Given the description of an element on the screen output the (x, y) to click on. 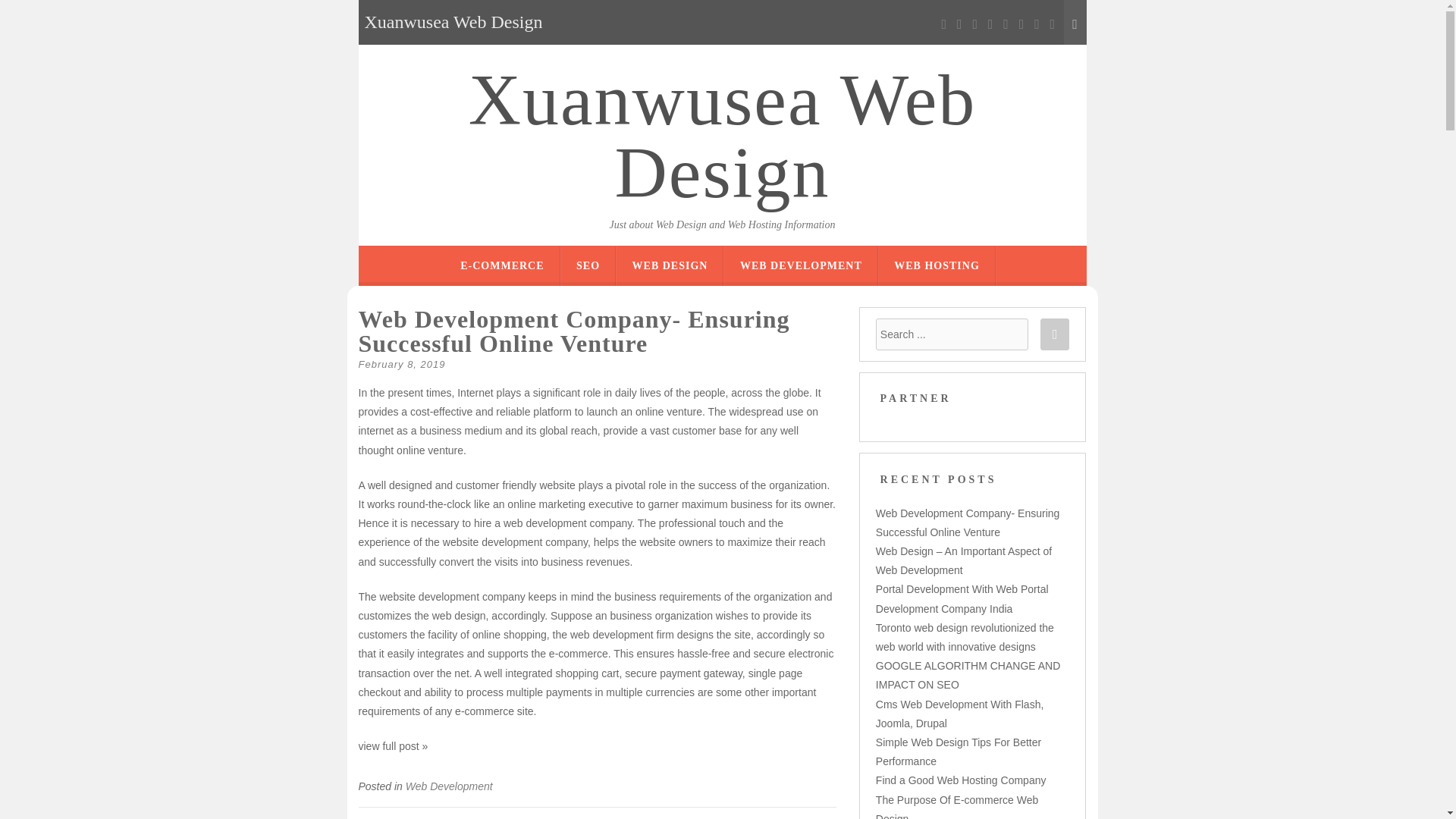
E-COMMERCE (501, 265)
Web Development Company- Ensuring Successful Online Venture (573, 331)
SKIP TO CONTENT (775, 255)
Xuanwusea Web Design (722, 136)
WEB DESIGN (669, 265)
WEB HOSTING (936, 265)
February 8, 2019 (401, 364)
WEB DEVELOPMENT (800, 265)
Web Development (449, 786)
